Given the description of an element on the screen output the (x, y) to click on. 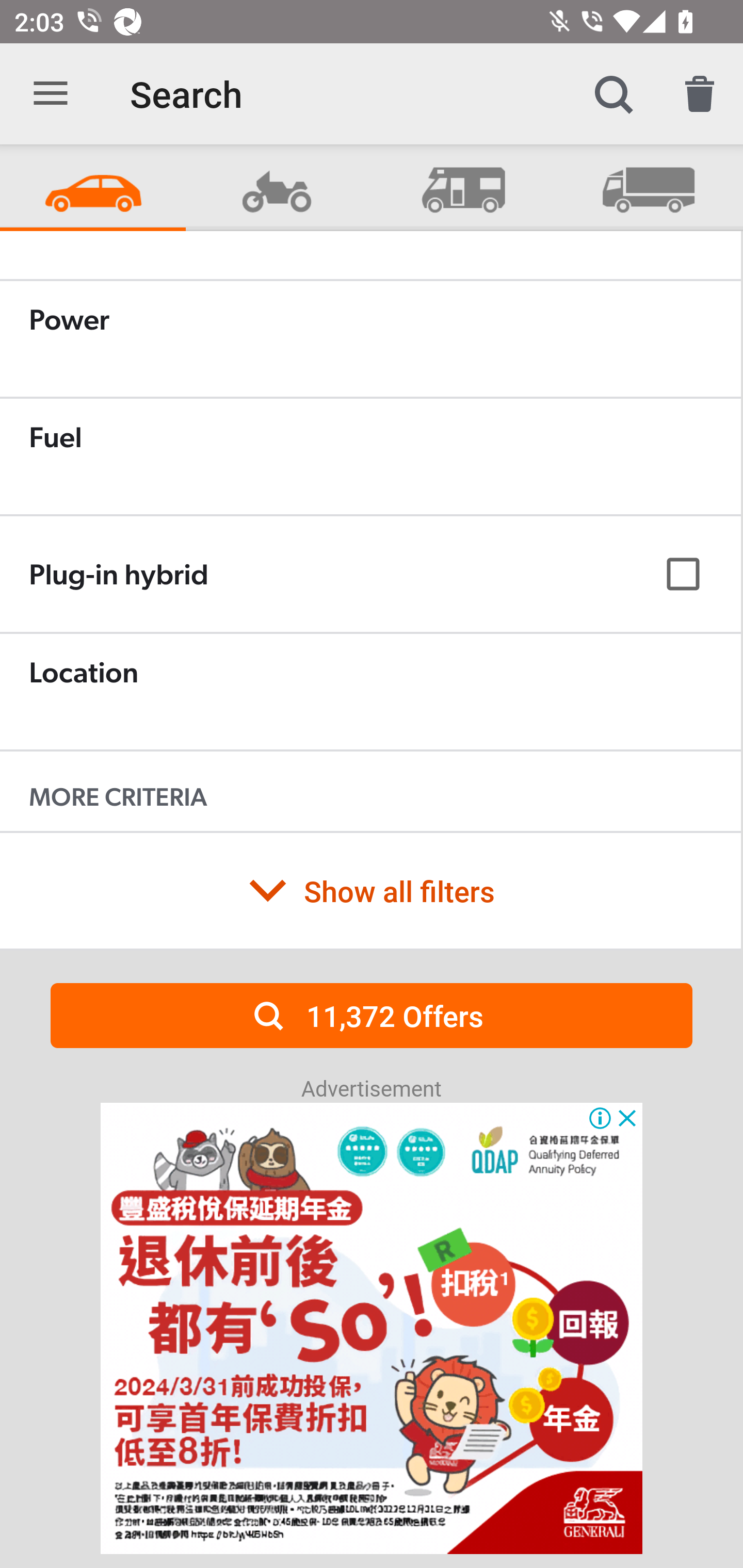
Open navigation bar (50, 93)
Search (612, 93)
Reset search (699, 93)
Power (370, 338)
Fuel (370, 456)
Plug-in hybrid (370, 573)
Plug-in hybrid (369, 574)
Location (370, 691)
Show all filters (370, 890)
11,372 Offers (371, 1015)
